Given the description of an element on the screen output the (x, y) to click on. 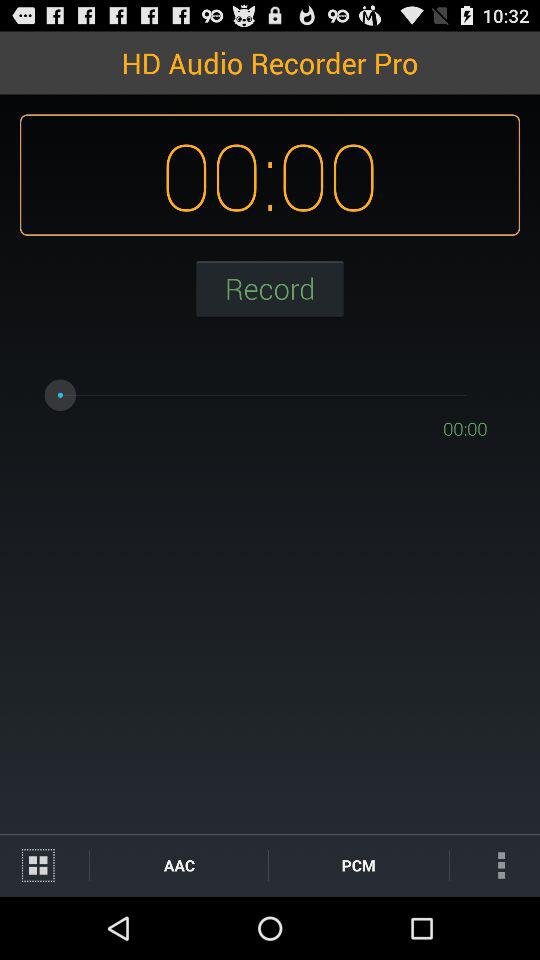
flip to pcm (358, 864)
